Given the description of an element on the screen output the (x, y) to click on. 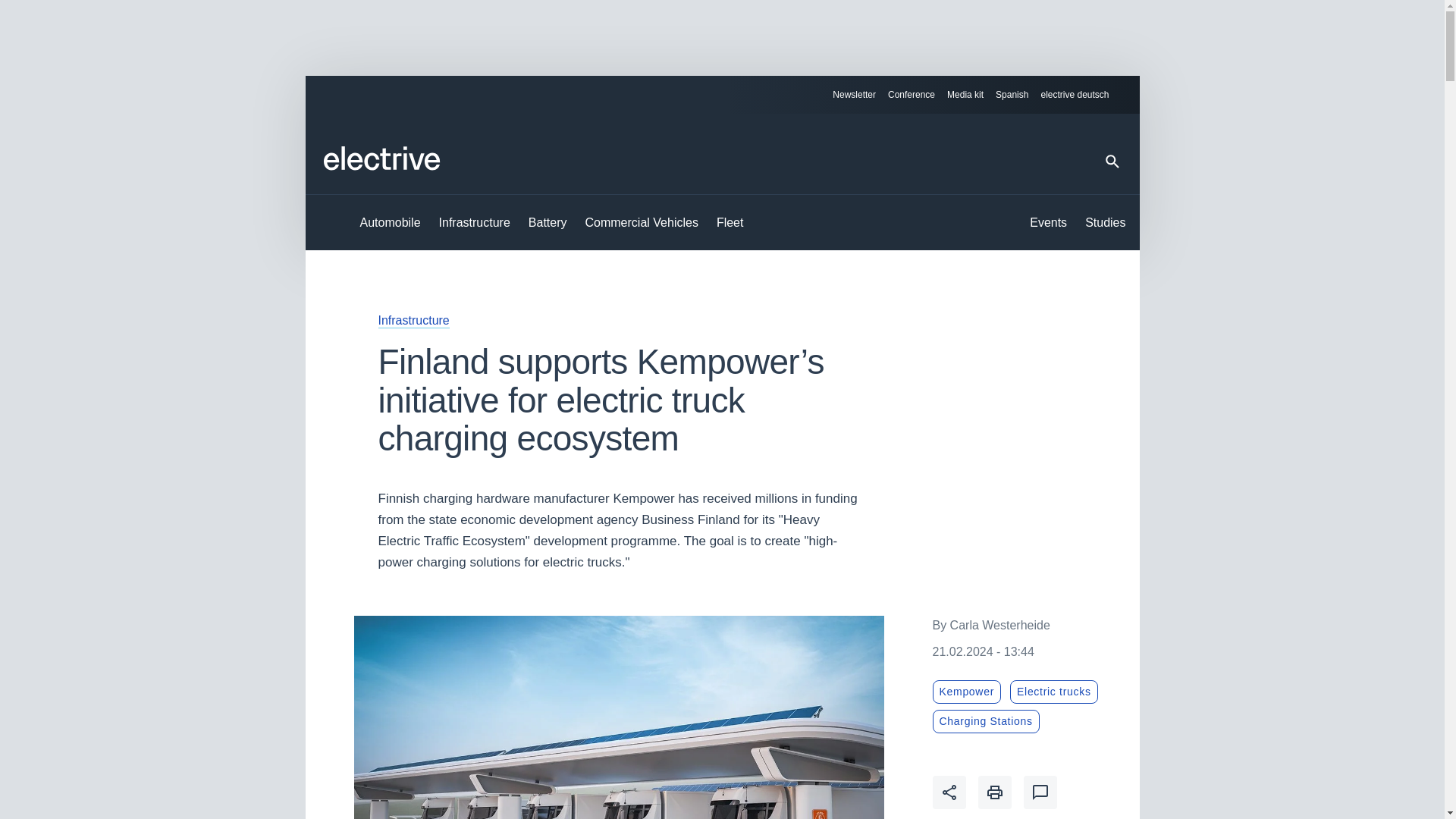
electrive deutsch (1081, 95)
Infrastructure (475, 223)
Newsletter (854, 95)
Commercial Vehicles (641, 223)
Kommentare (1040, 792)
Infrastructure (412, 319)
Fleet (730, 223)
Teilen (949, 792)
Conference (911, 95)
Studies (1104, 223)
Events (1048, 223)
Spanish (1011, 95)
Automobile (389, 223)
Battery (547, 223)
Media kit (965, 95)
